Given the description of an element on the screen output the (x, y) to click on. 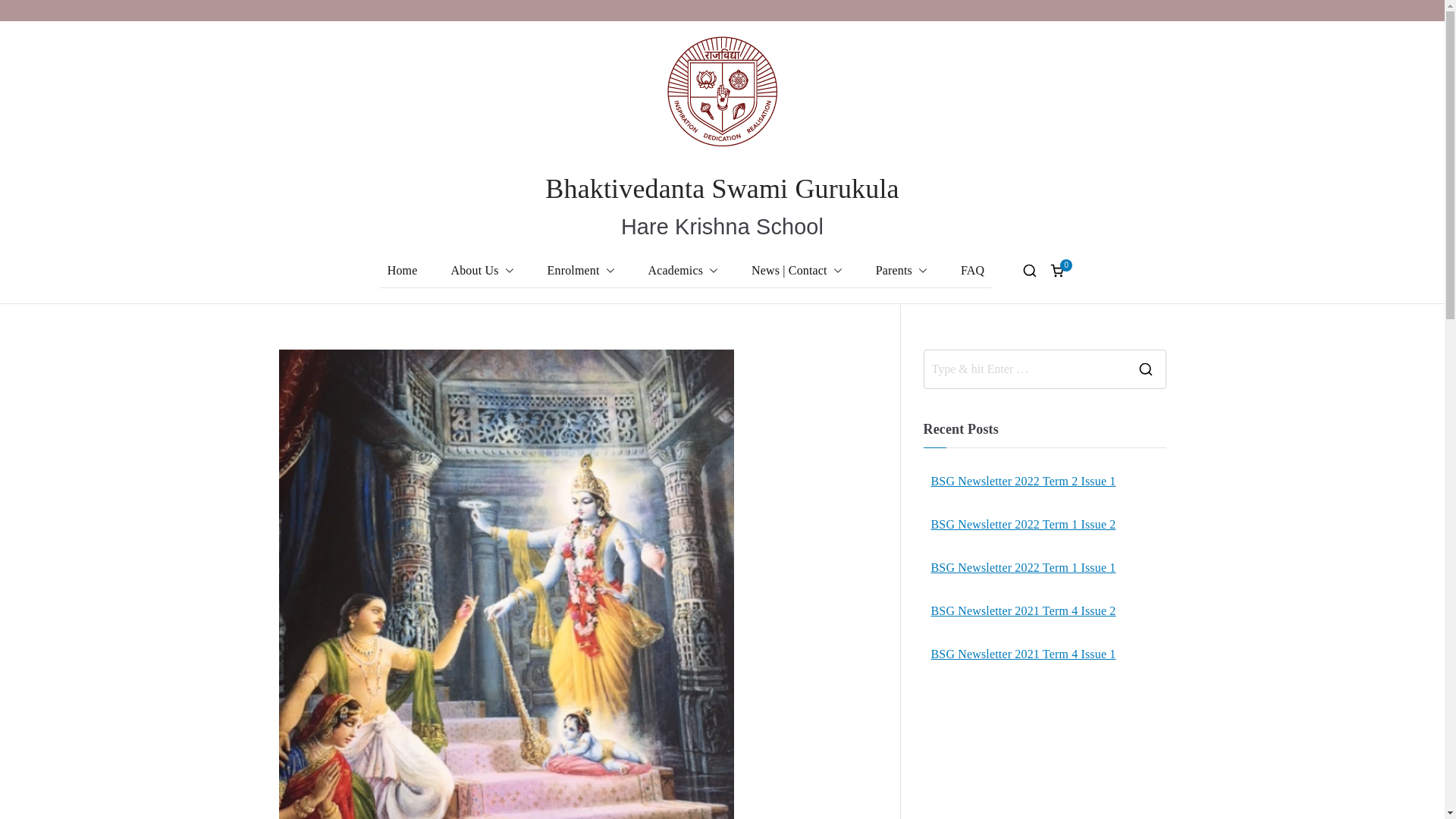
Search (26, 12)
Home (402, 270)
Search for: (1024, 369)
Enrolment (580, 270)
FAQ (972, 270)
Academics (683, 270)
Bhaktivedanta Swami Gurukula (721, 188)
About Us (481, 270)
0 (1056, 270)
Parents (901, 270)
View your shopping cart (1056, 270)
